Given the description of an element on the screen output the (x, y) to click on. 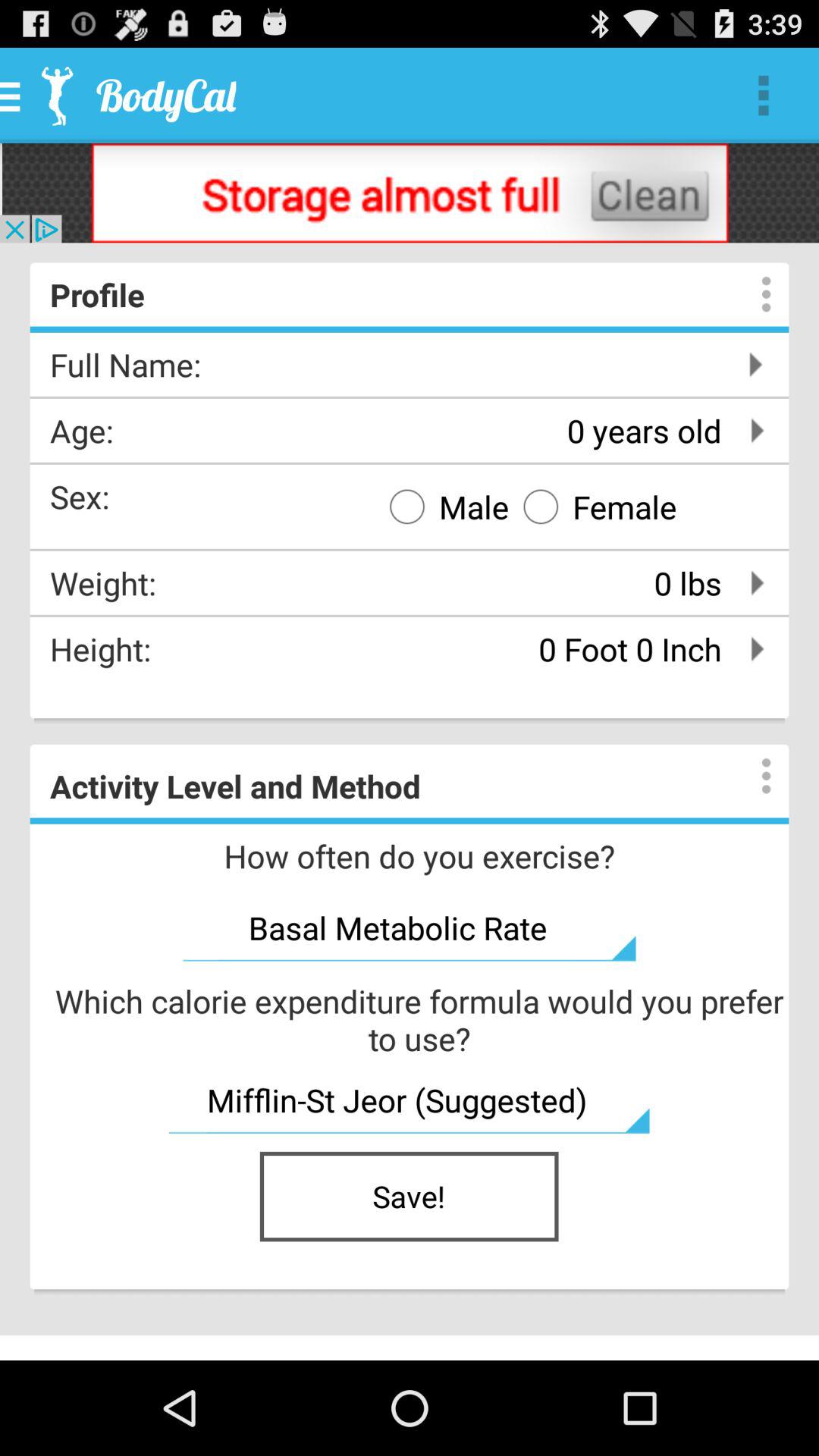
information area (750, 294)
